Given the description of an element on the screen output the (x, y) to click on. 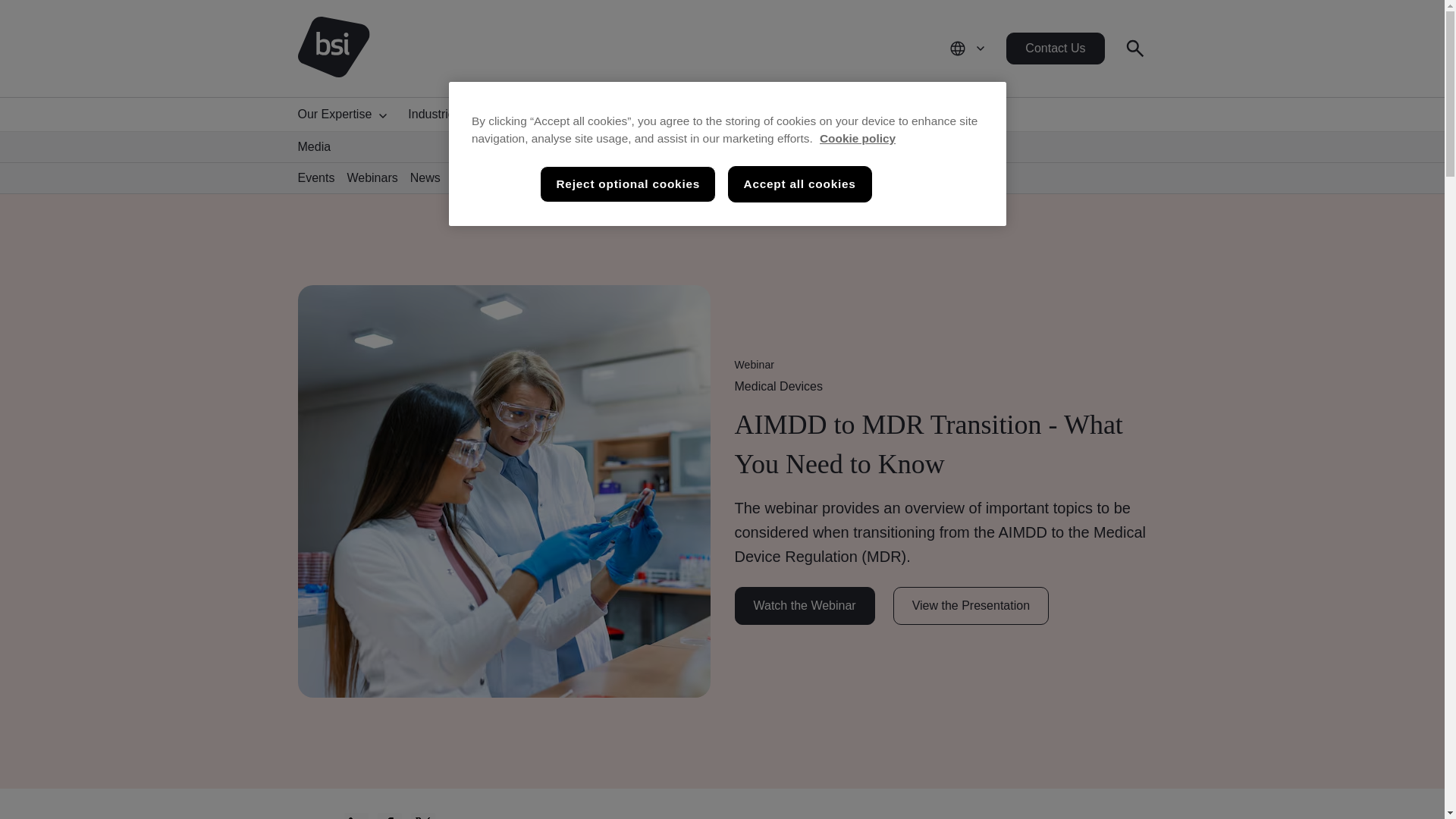
Search Icon (1134, 48)
Our Expertise (346, 114)
Our Expertise (346, 114)
Contact Us (1054, 48)
Contact Us (1054, 48)
BSI logo (333, 48)
Country selector (968, 48)
